Given the description of an element on the screen output the (x, y) to click on. 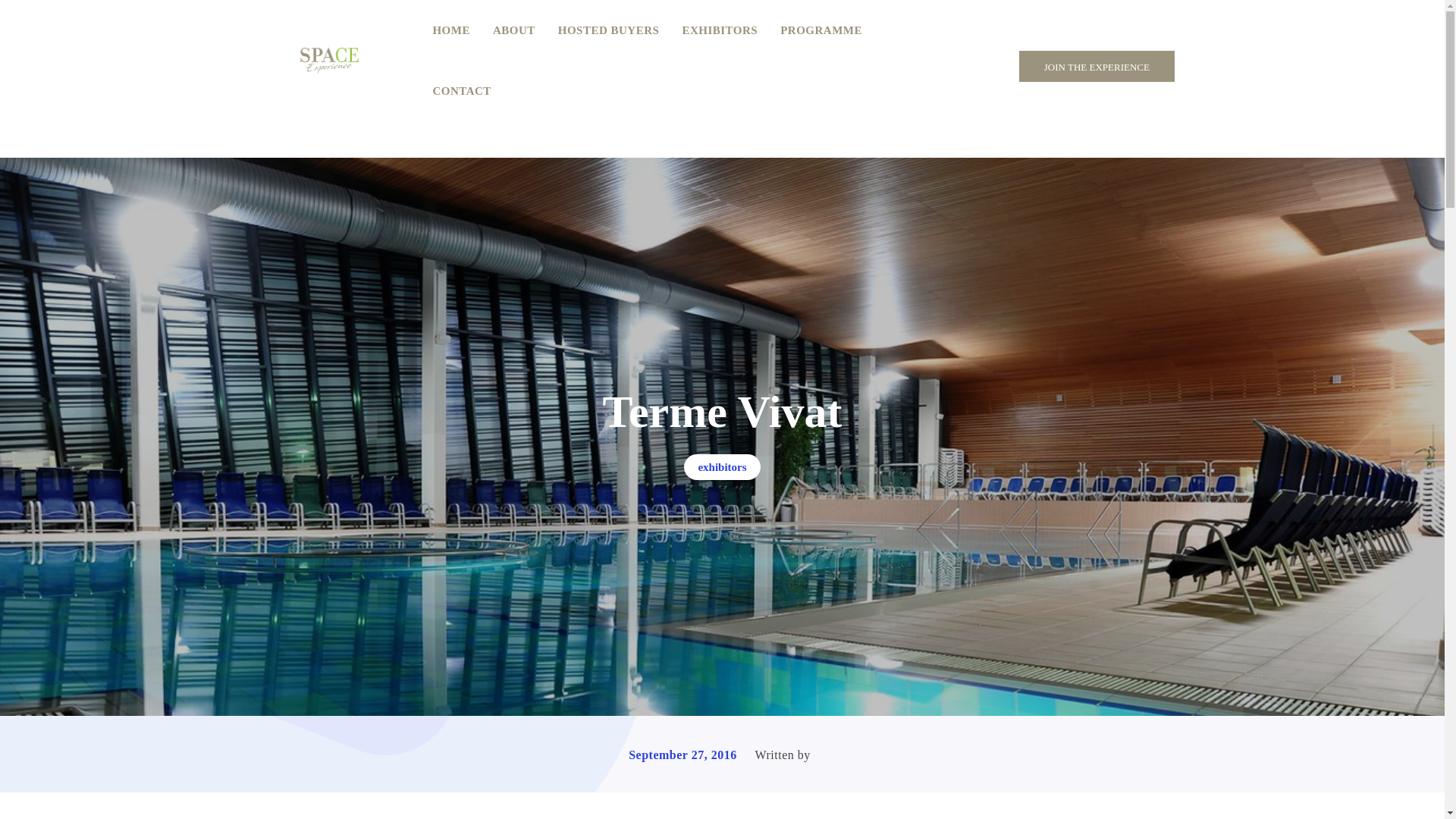
ABOUT (513, 30)
HOSTED BUYERS (608, 30)
HOME (451, 30)
